Given the description of an element on the screen output the (x, y) to click on. 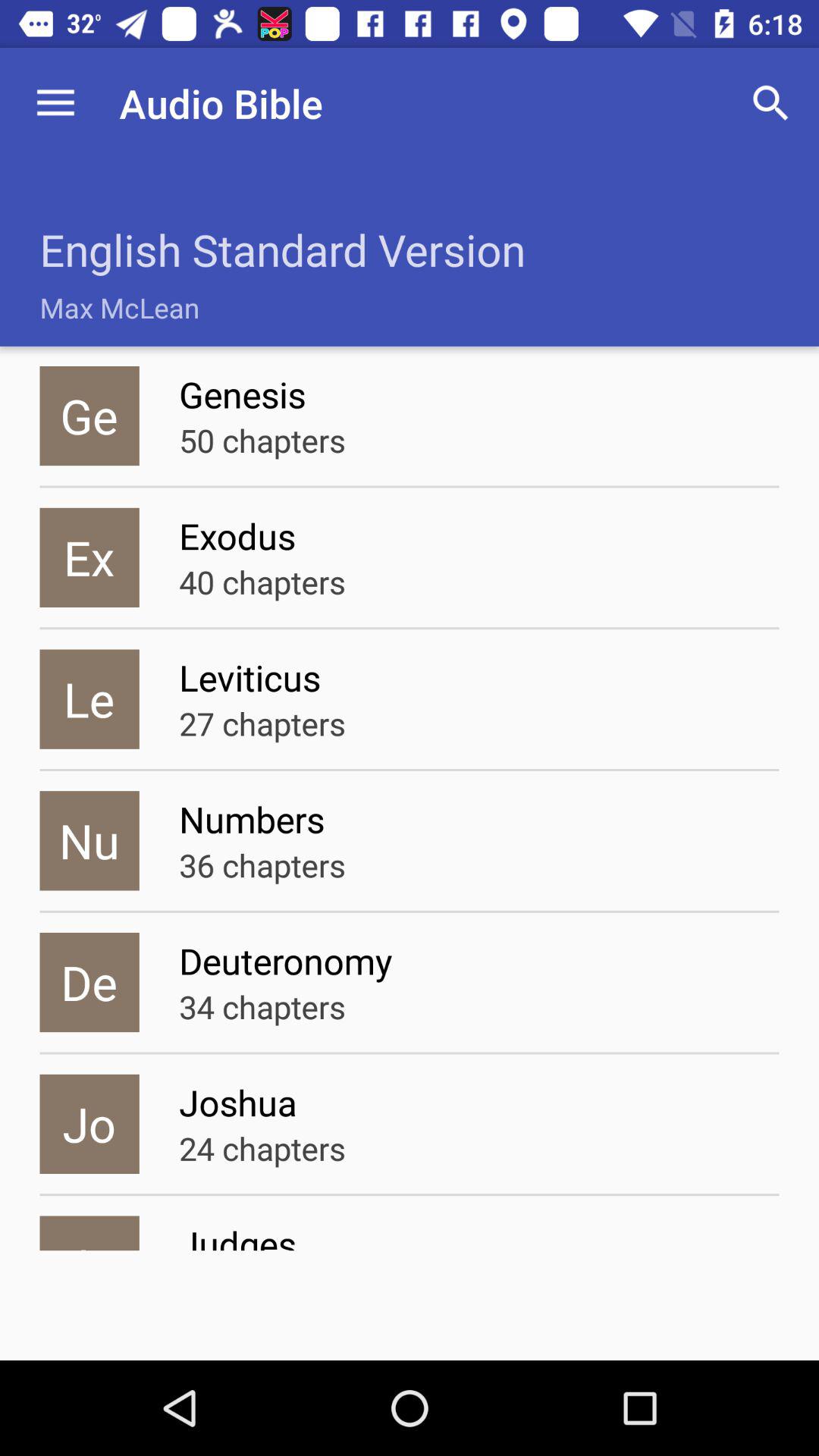
choose icon next to the ge (262, 439)
